Given the description of an element on the screen output the (x, y) to click on. 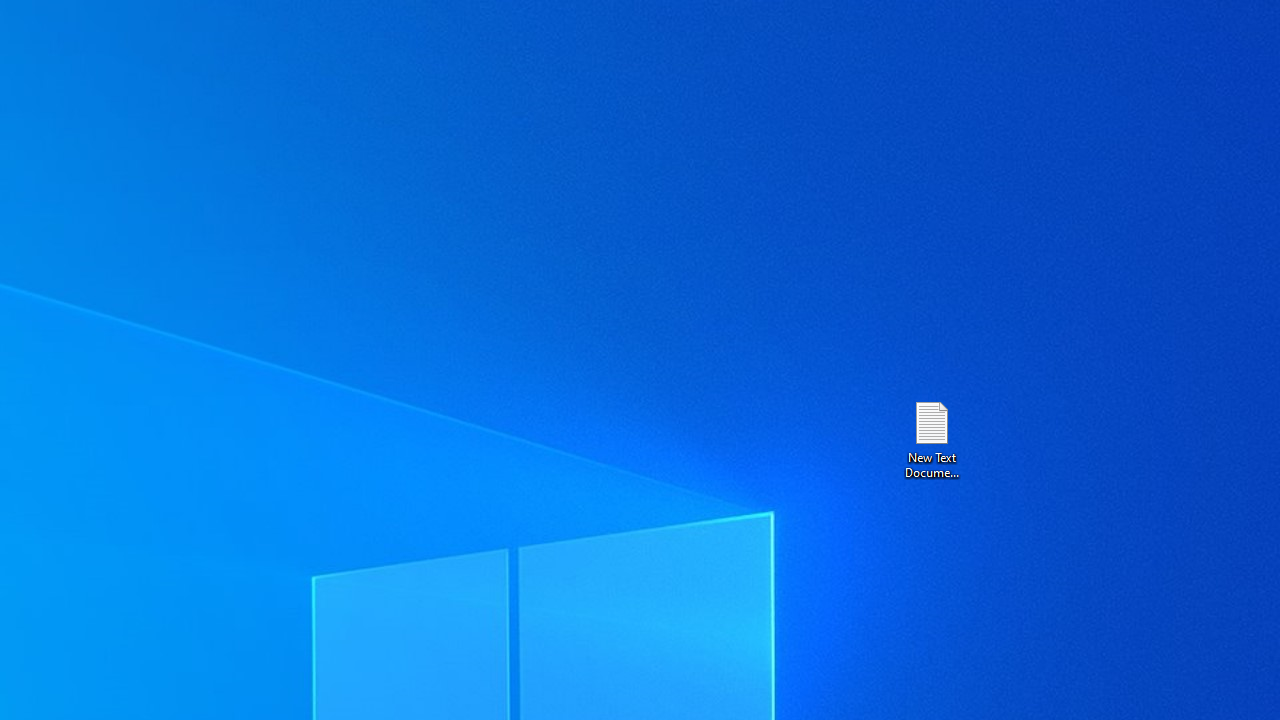
New Text Document (2) (931, 438)
